Given the description of an element on the screen output the (x, y) to click on. 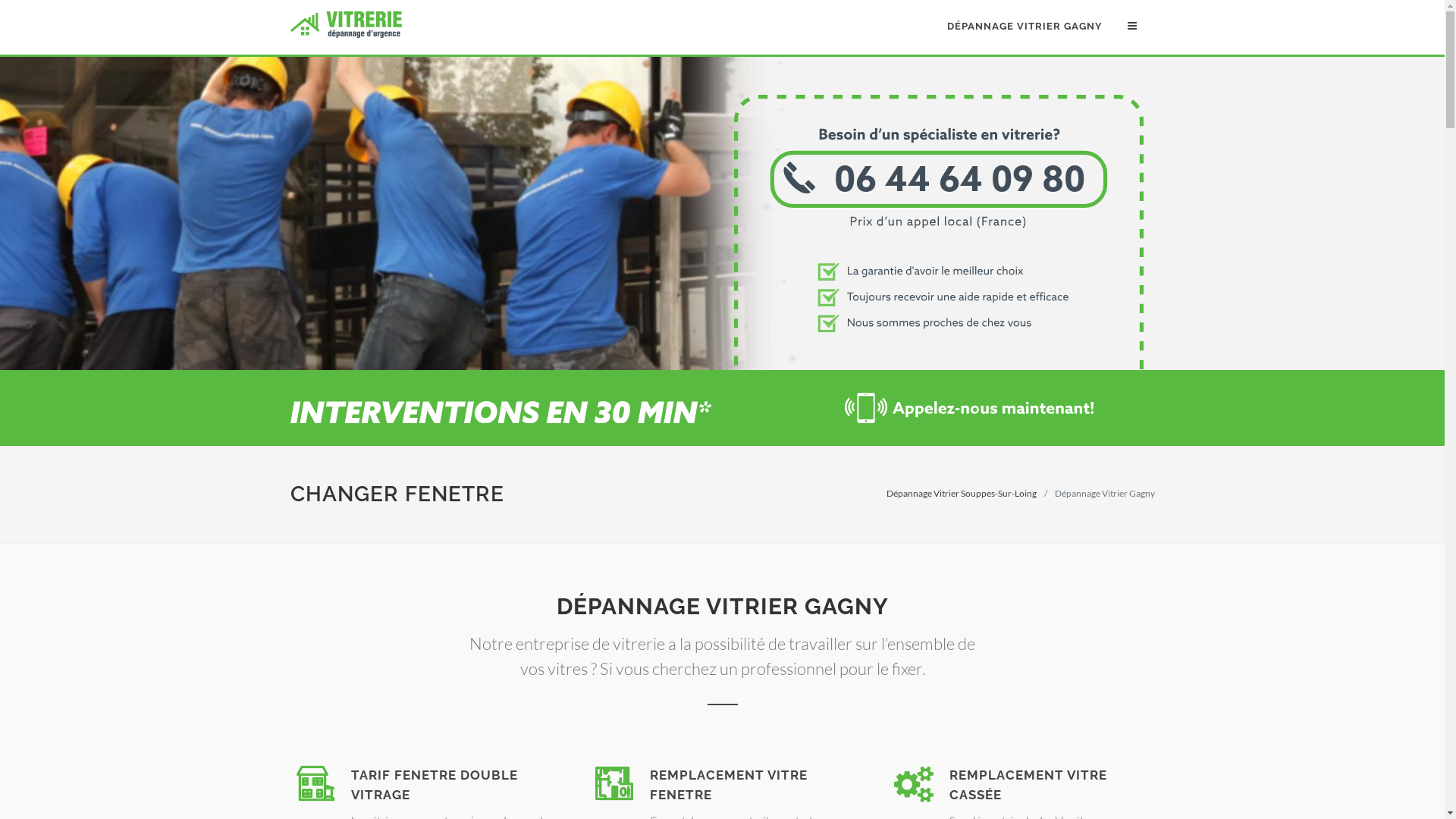
TARIF FENETRE DOUBLE VITRAGE Element type: text (433, 784)
REMPLACEMENT VITRE FENETRE Element type: text (728, 784)
06 44 64 09 80 Element type: text (938, 365)
